Given the description of an element on the screen output the (x, y) to click on. 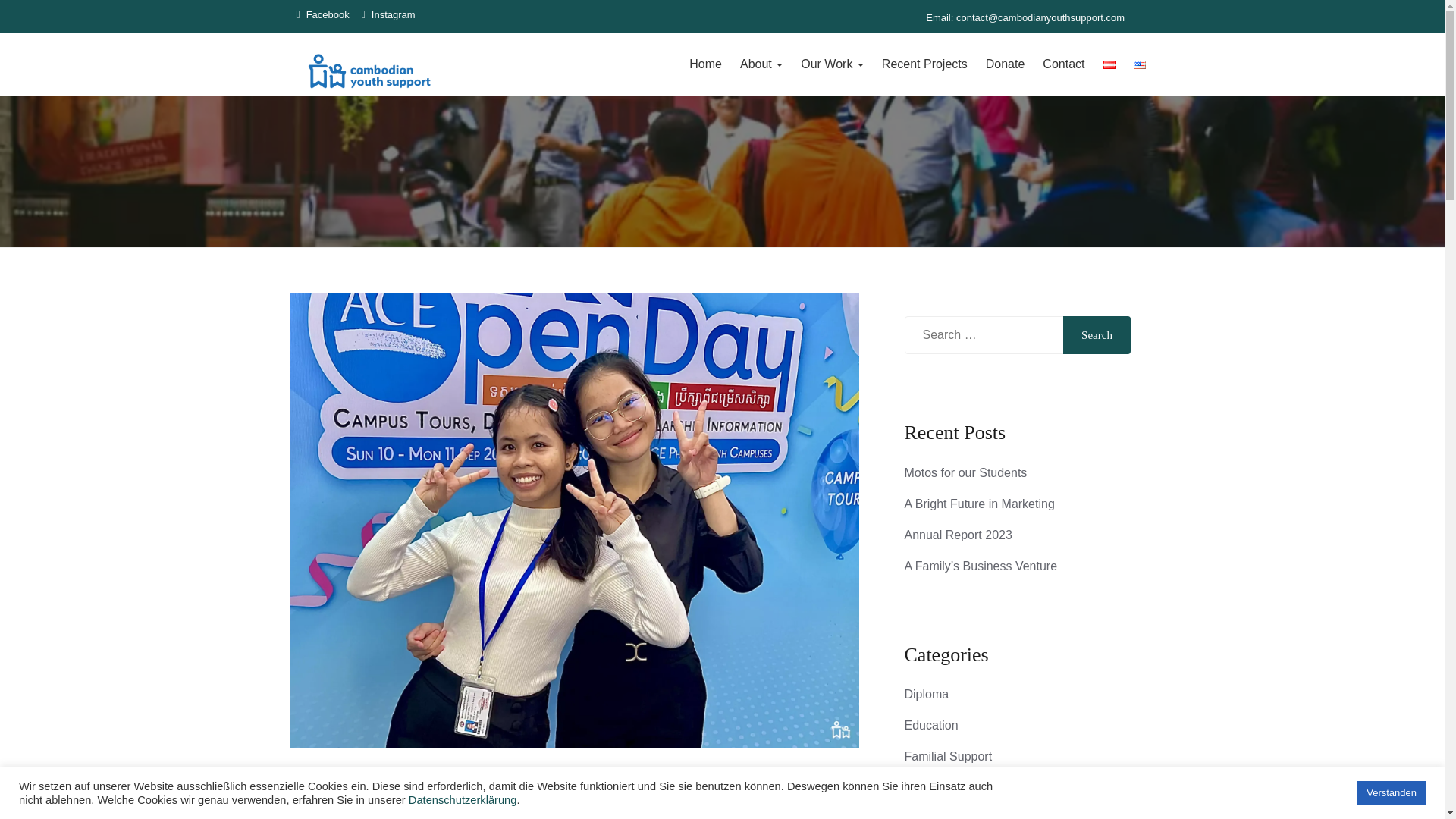
Recent Projects (924, 64)
Facebook (322, 10)
A Bright Future in Marketing (979, 503)
Education (931, 725)
0 Comments (509, 814)
Contact (1063, 64)
Our Work (832, 64)
Diploma (926, 694)
Julian (339, 814)
About (761, 64)
Our Work (832, 64)
February 25, 2024 (416, 814)
Donate (1004, 64)
Search (1096, 334)
Motos for our Students (965, 472)
